Given the description of an element on the screen output the (x, y) to click on. 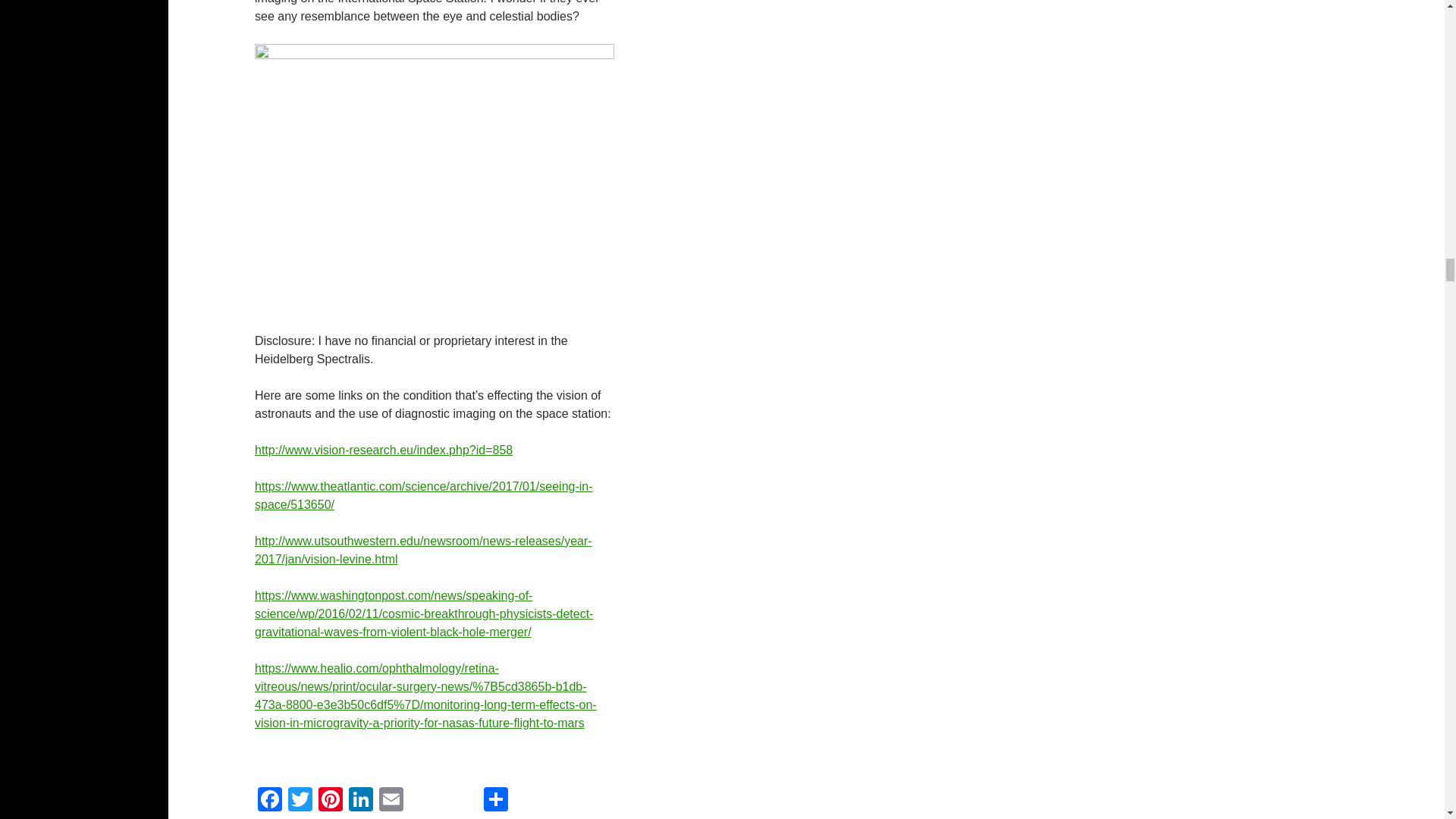
Twitter (300, 800)
Facebook (269, 800)
Email (390, 800)
LinkedIn (360, 800)
Pinterest (330, 800)
